Given the description of an element on the screen output the (x, y) to click on. 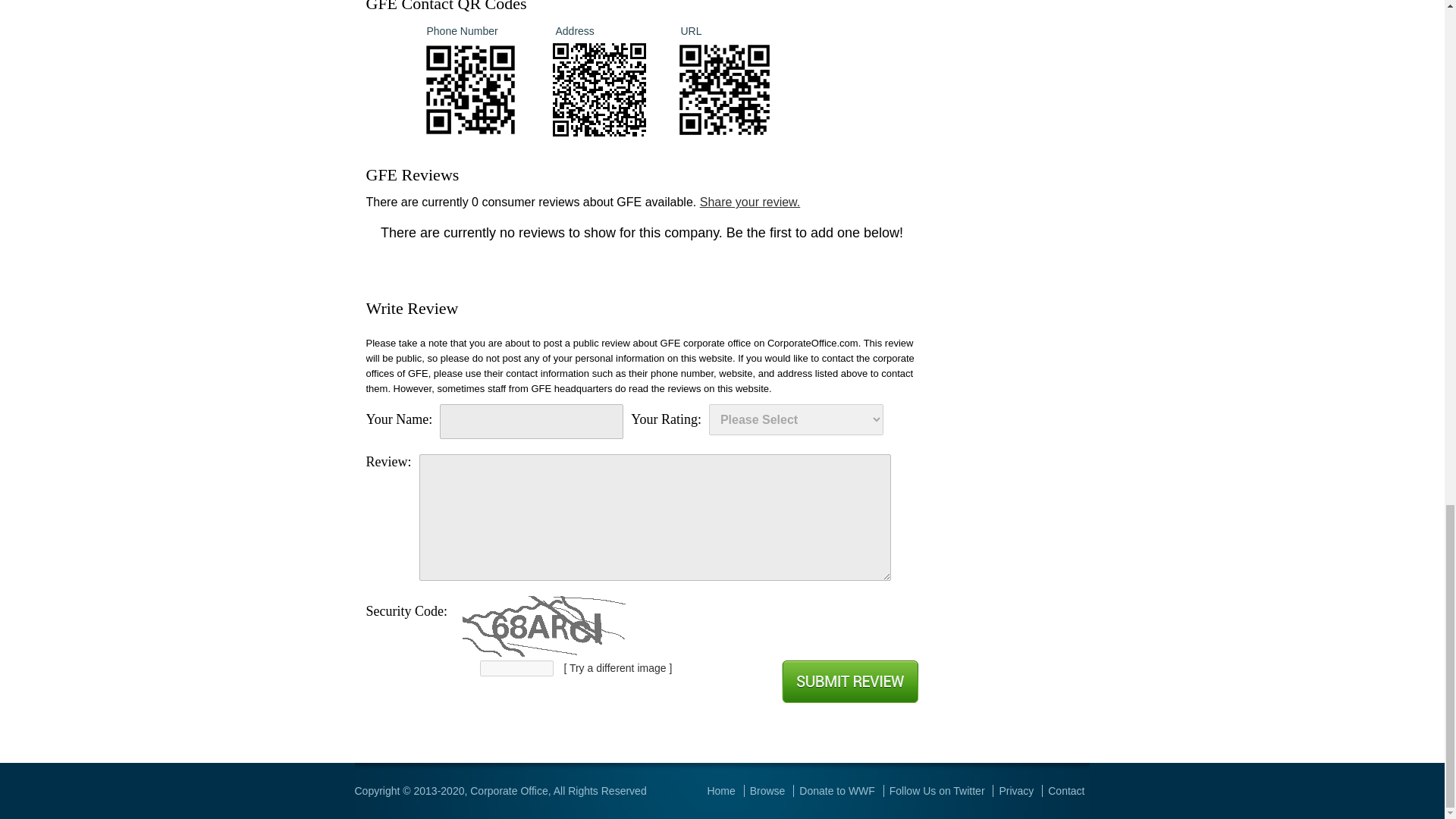
Contact (1066, 790)
Donate to WWF (837, 790)
Privacy (1015, 790)
Share your review. (750, 201)
Corporate Office (508, 790)
Browse (767, 790)
Follow Us on Twitter (937, 790)
Home (720, 790)
